Given the description of an element on the screen output the (x, y) to click on. 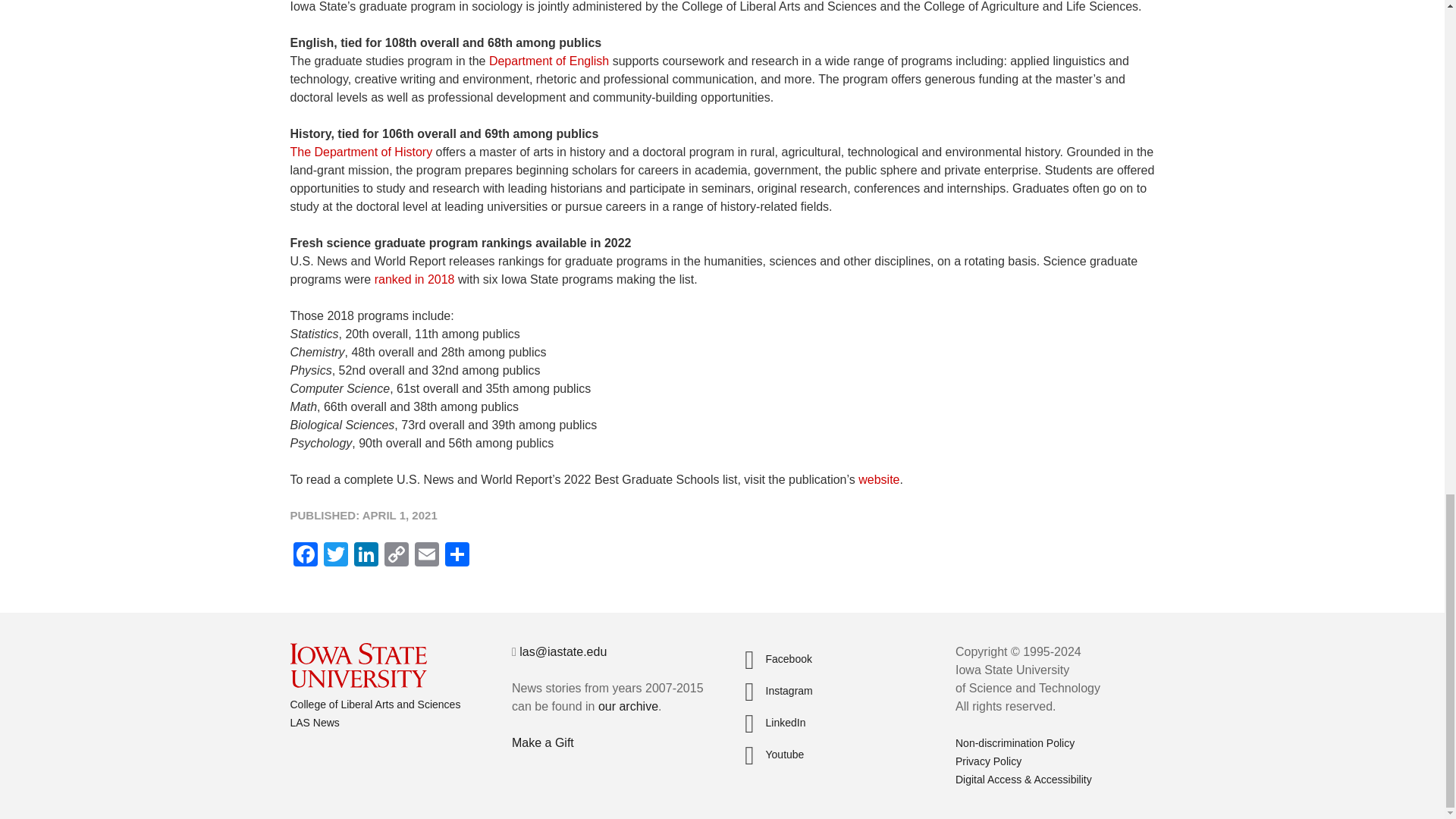
Email (425, 556)
Copy Link (395, 556)
LinkedIn (365, 556)
Facebook (304, 556)
Twitter (335, 556)
